Given the description of an element on the screen output the (x, y) to click on. 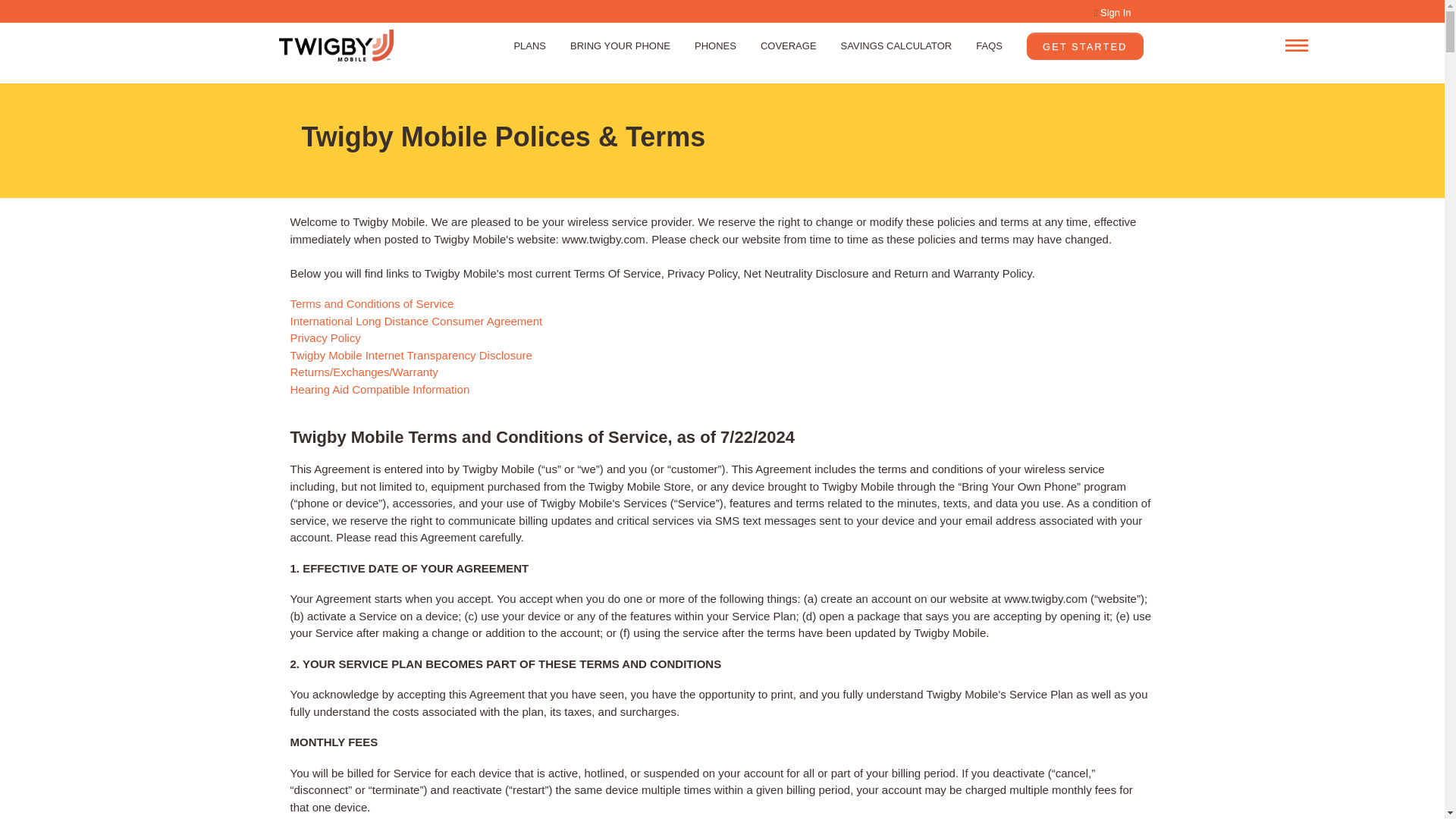
Sign In (1111, 12)
COVERAGE (788, 46)
SAVINGS CALCULATOR (895, 46)
BRING YOUR PHONE (619, 46)
PHONES (715, 46)
FAQS (988, 46)
GET STARTED (1084, 45)
PLANS (528, 46)
